Given the description of an element on the screen output the (x, y) to click on. 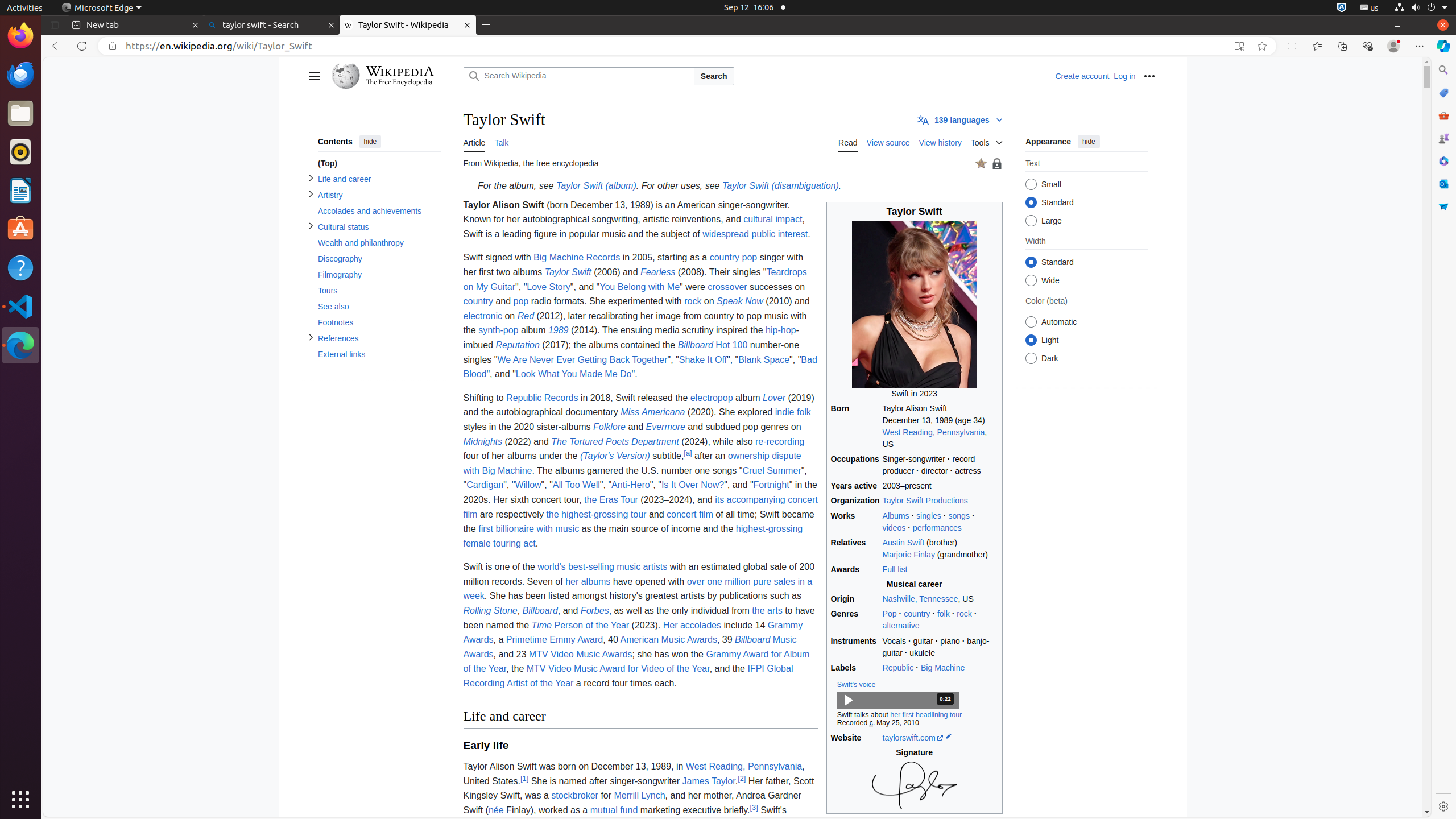
Primetime Emmy Award Element type: link (554, 639)
first billionaire with music Element type: link (528, 528)
The Tortured Poets Department Element type: link (615, 441)
Rhythmbox Element type: push-button (20, 151)
Miss Americana Element type: link (652, 412)
